Given the description of an element on the screen output the (x, y) to click on. 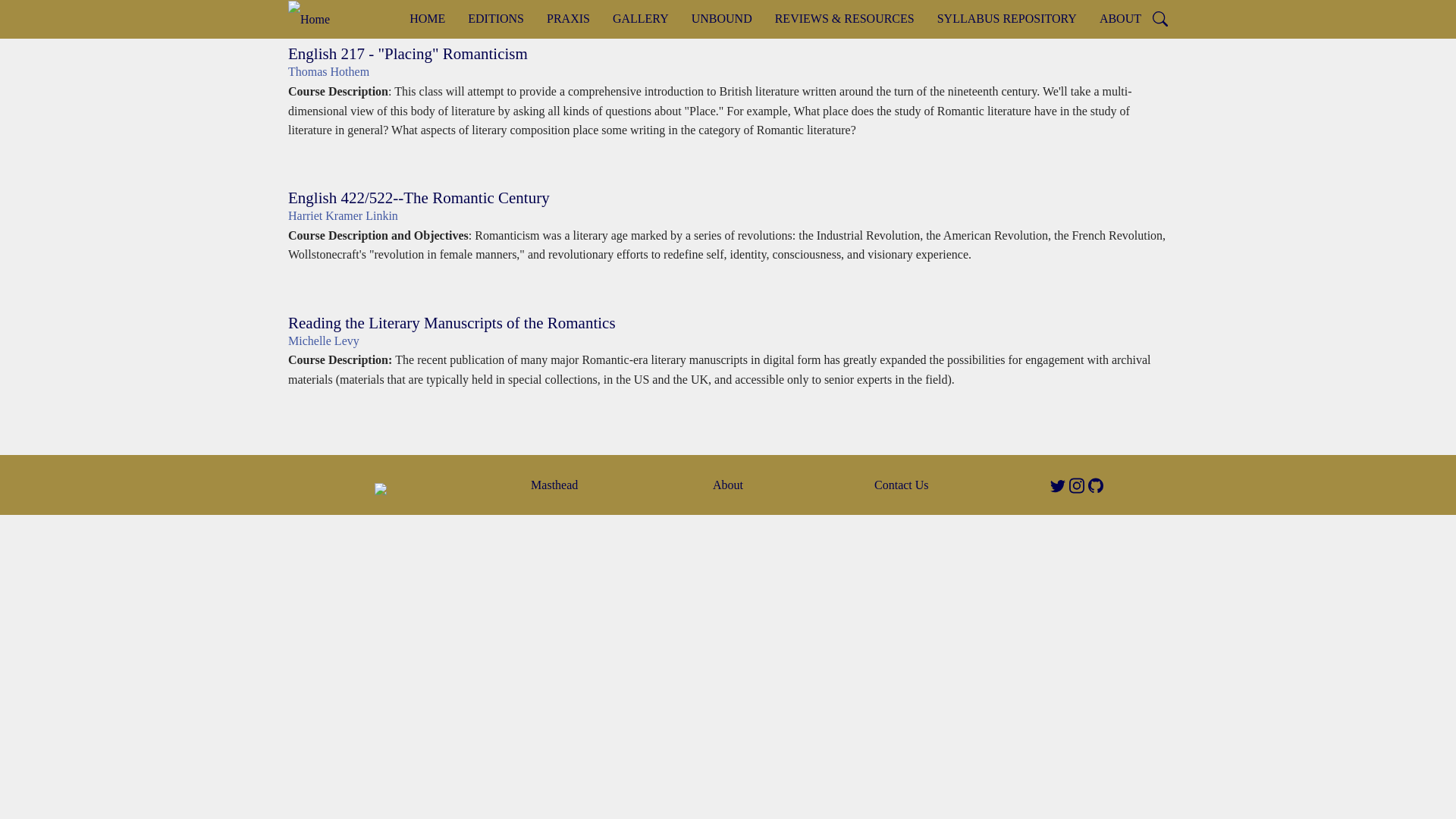
SYLLABUS REPOSITORY (1006, 18)
HOME (427, 18)
English 217 - "Placing" Romanticism (407, 54)
Harriet Kramer Linkin (342, 215)
EDITIONS (496, 18)
Reading the Literary Manuscripts of the Romantics (451, 322)
Michelle Levy (323, 340)
PRAXIS (568, 18)
Thomas Hothem (328, 71)
ABOUT (1120, 18)
